Given the description of an element on the screen output the (x, y) to click on. 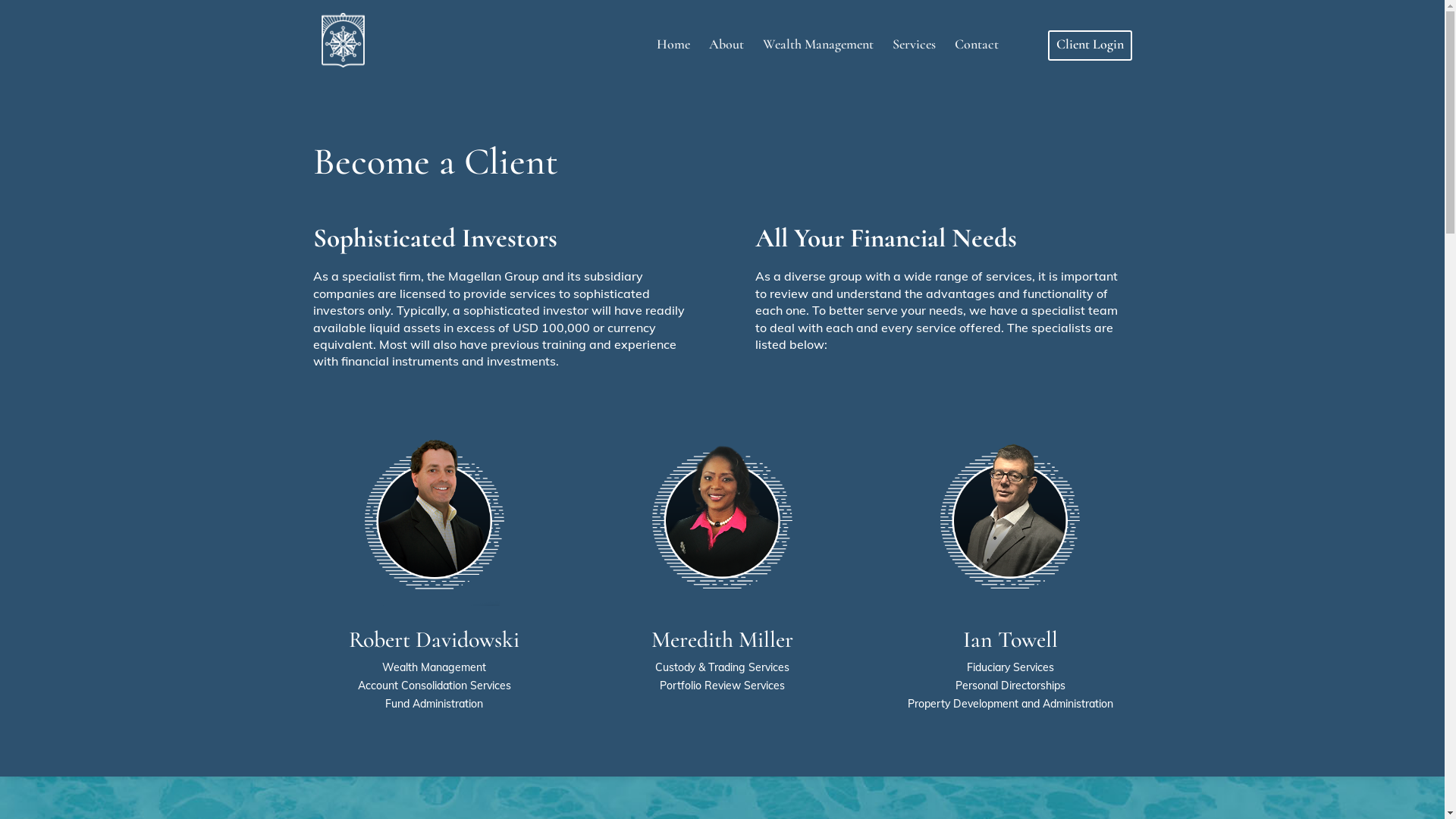
Contact Element type: text (975, 58)
About Element type: text (725, 58)
Client Login Element type: text (1090, 45)
Home Element type: text (673, 58)
Services Element type: text (913, 58)
Wealth Management Element type: text (817, 58)
